Given the description of an element on the screen output the (x, y) to click on. 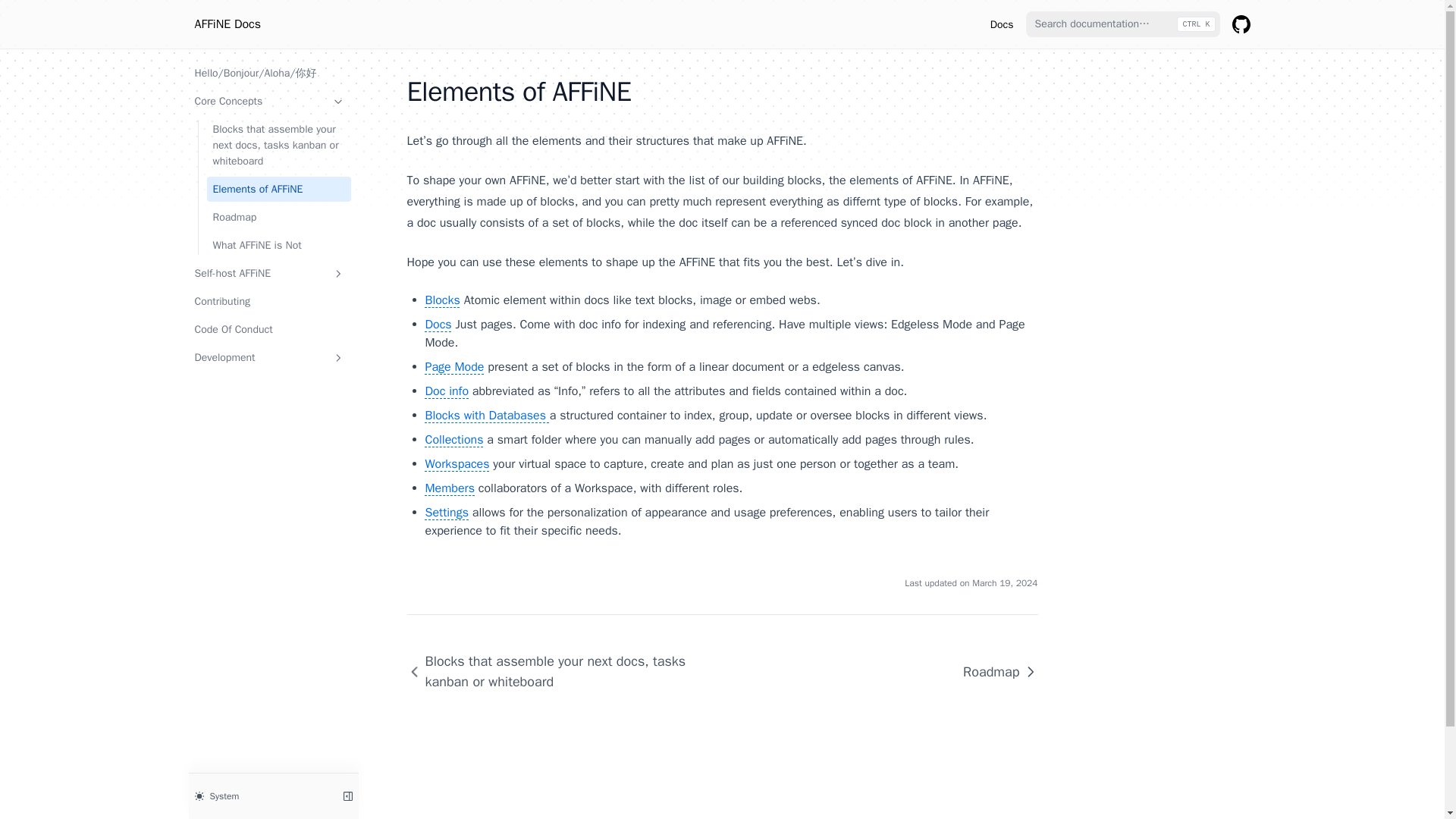
Contributing (268, 301)
Blocks (442, 299)
What AFFiNE is Not (278, 244)
Elements of AFFiNE (278, 188)
Roadmap (278, 217)
Self-host AFFiNE (268, 273)
Code Of Conduct (268, 329)
Hide sidebar (347, 795)
System (258, 795)
Roadmap (993, 671)
GitHub (1240, 24)
Development (268, 357)
Core Concepts (268, 100)
Change theme (258, 795)
